Given the description of an element on the screen output the (x, y) to click on. 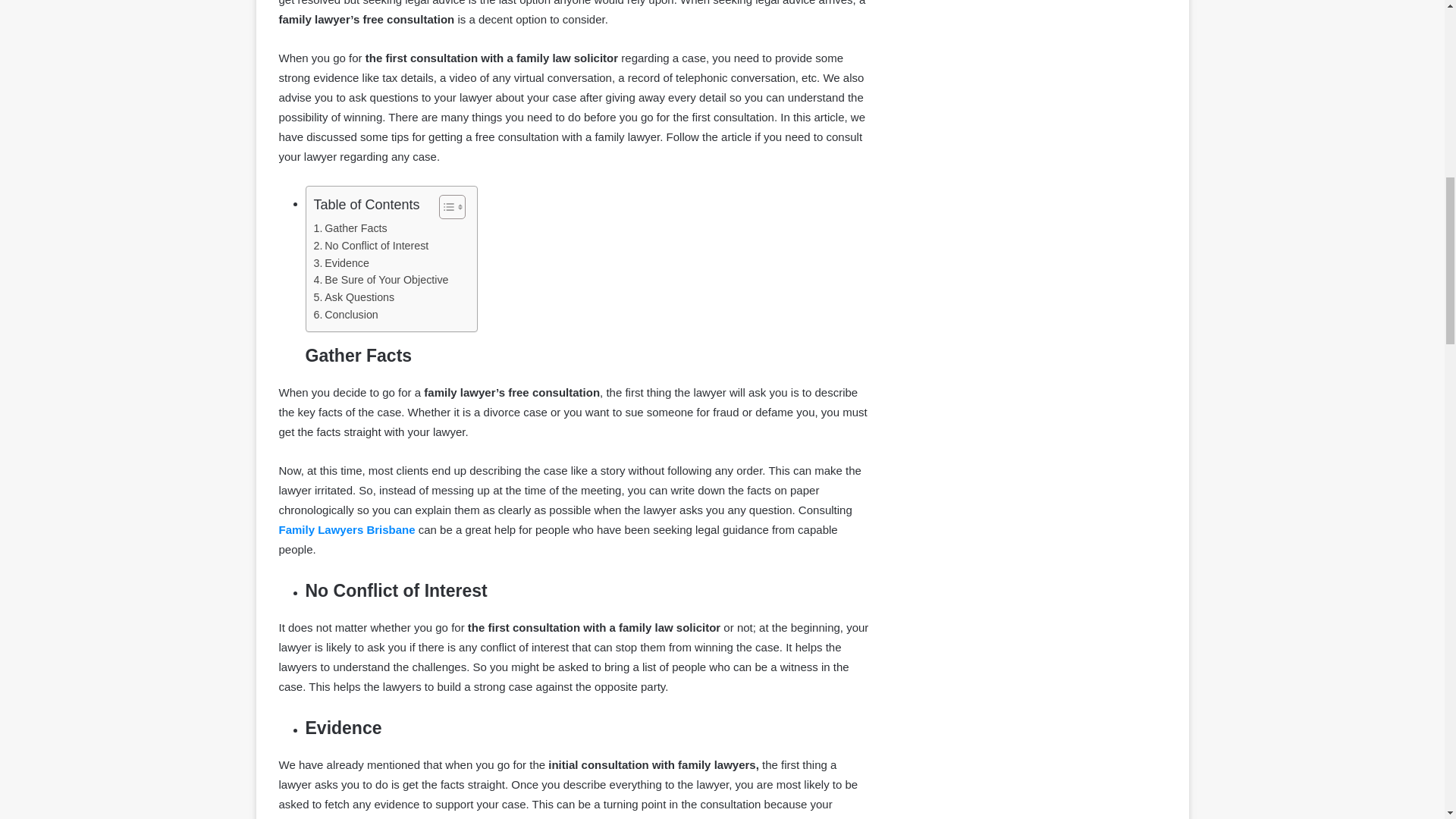
Conclusion (346, 314)
Family Lawyers Brisbane (346, 529)
Gather Facts (350, 228)
Ask Questions (354, 297)
Ask Questions (354, 297)
Conclusion (346, 314)
Gather Facts (350, 228)
No Conflict of Interest (371, 245)
Be Sure of Your Objective (381, 280)
No Conflict of Interest (371, 245)
